Given the description of an element on the screen output the (x, y) to click on. 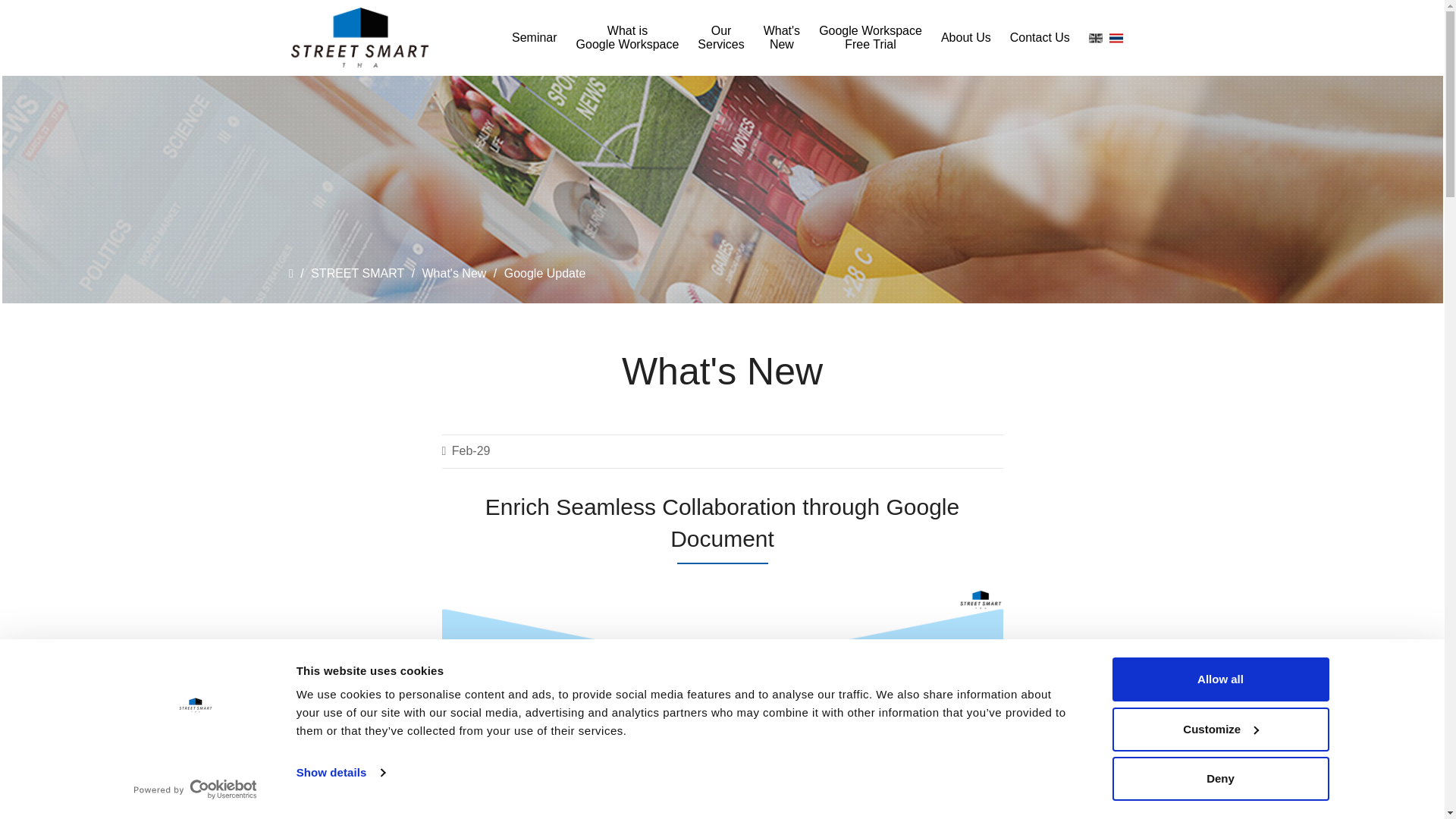
Allow all (1219, 679)
Customize (1219, 728)
Seminar (534, 37)
Deny (1219, 778)
Show details (340, 772)
